Given the description of an element on the screen output the (x, y) to click on. 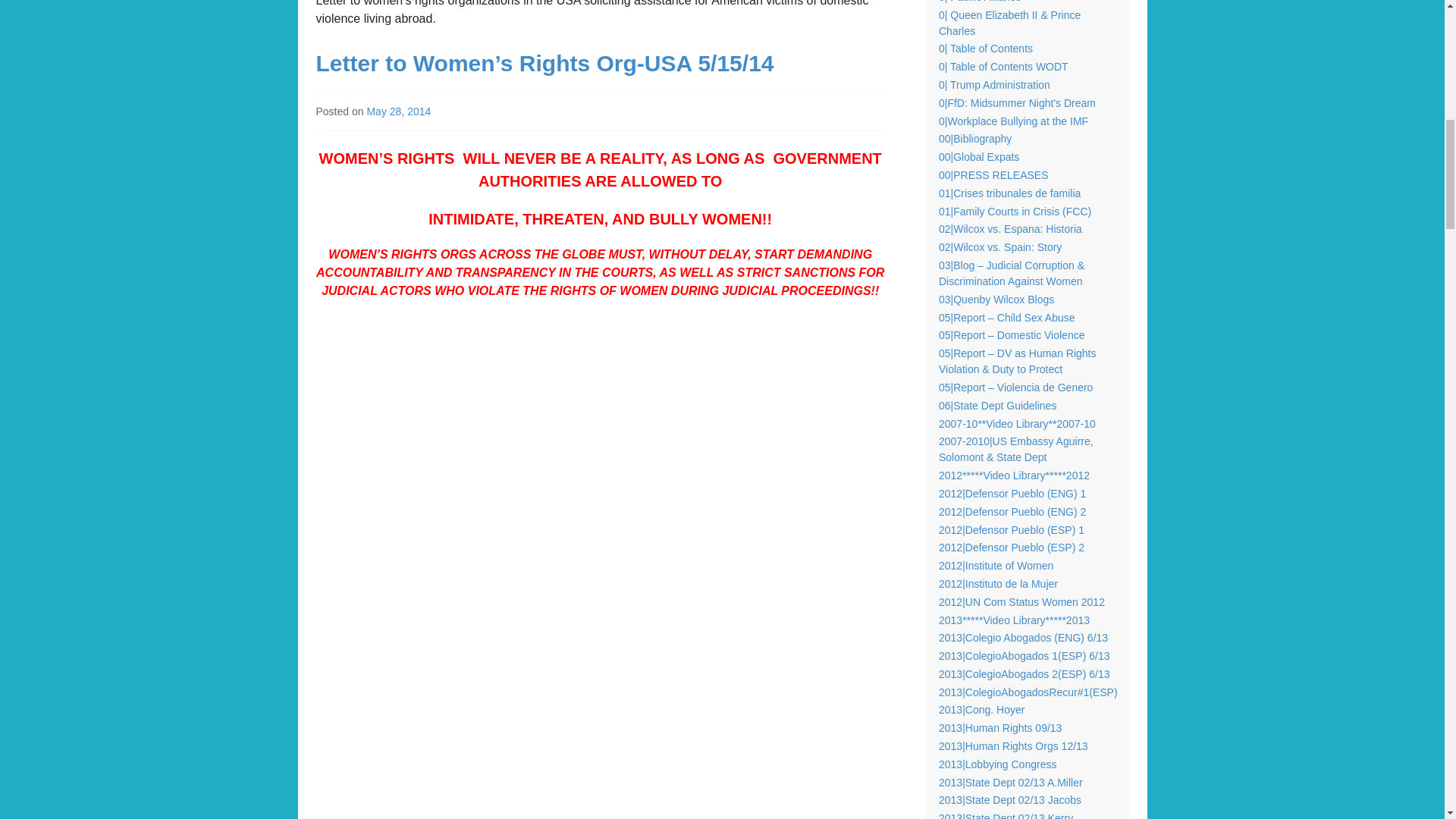
May 28, 2014 (398, 111)
